Given the description of an element on the screen output the (x, y) to click on. 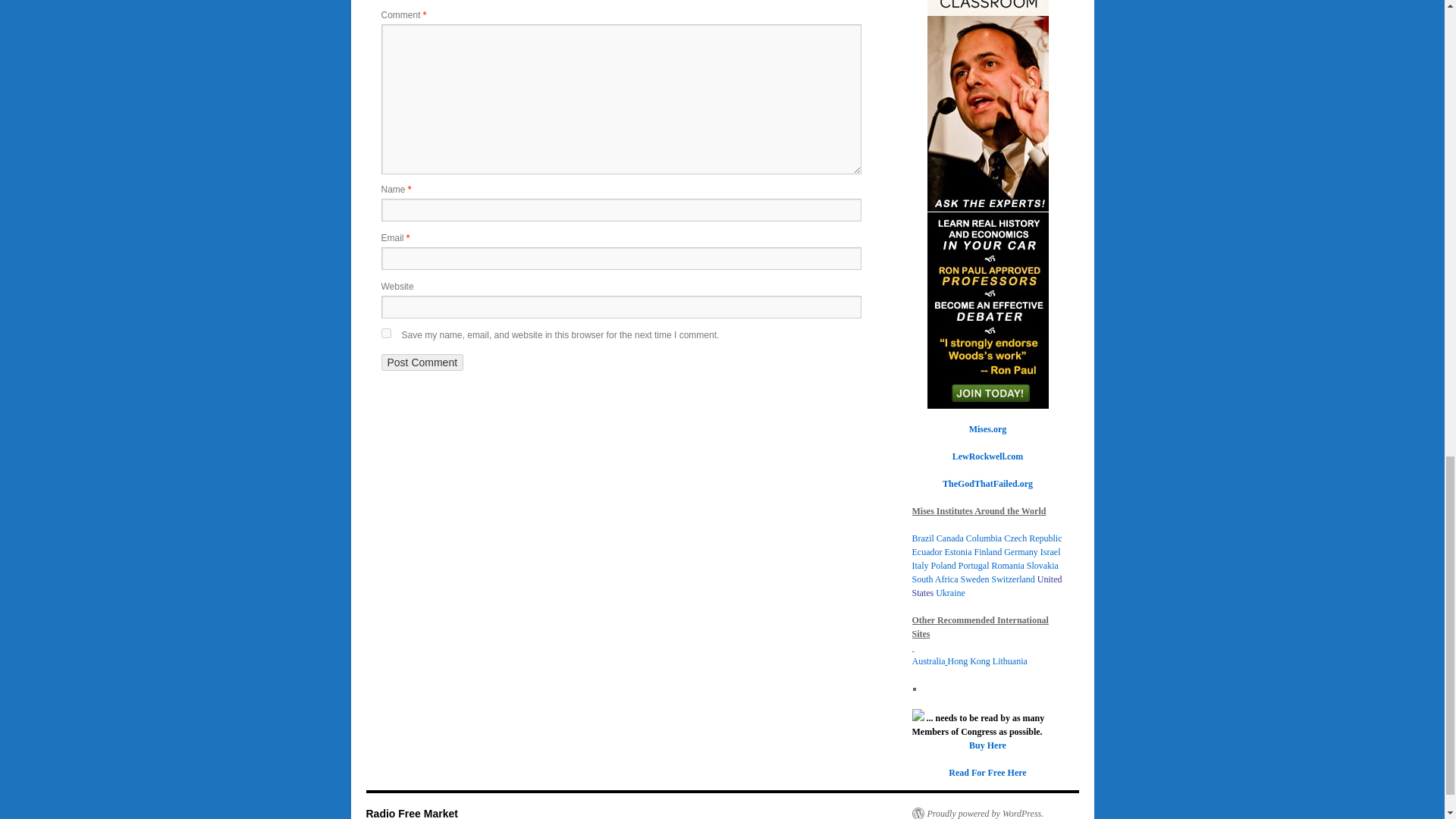
Post Comment (421, 362)
Post Comment (421, 362)
yes (385, 333)
